Given the description of an element on the screen output the (x, y) to click on. 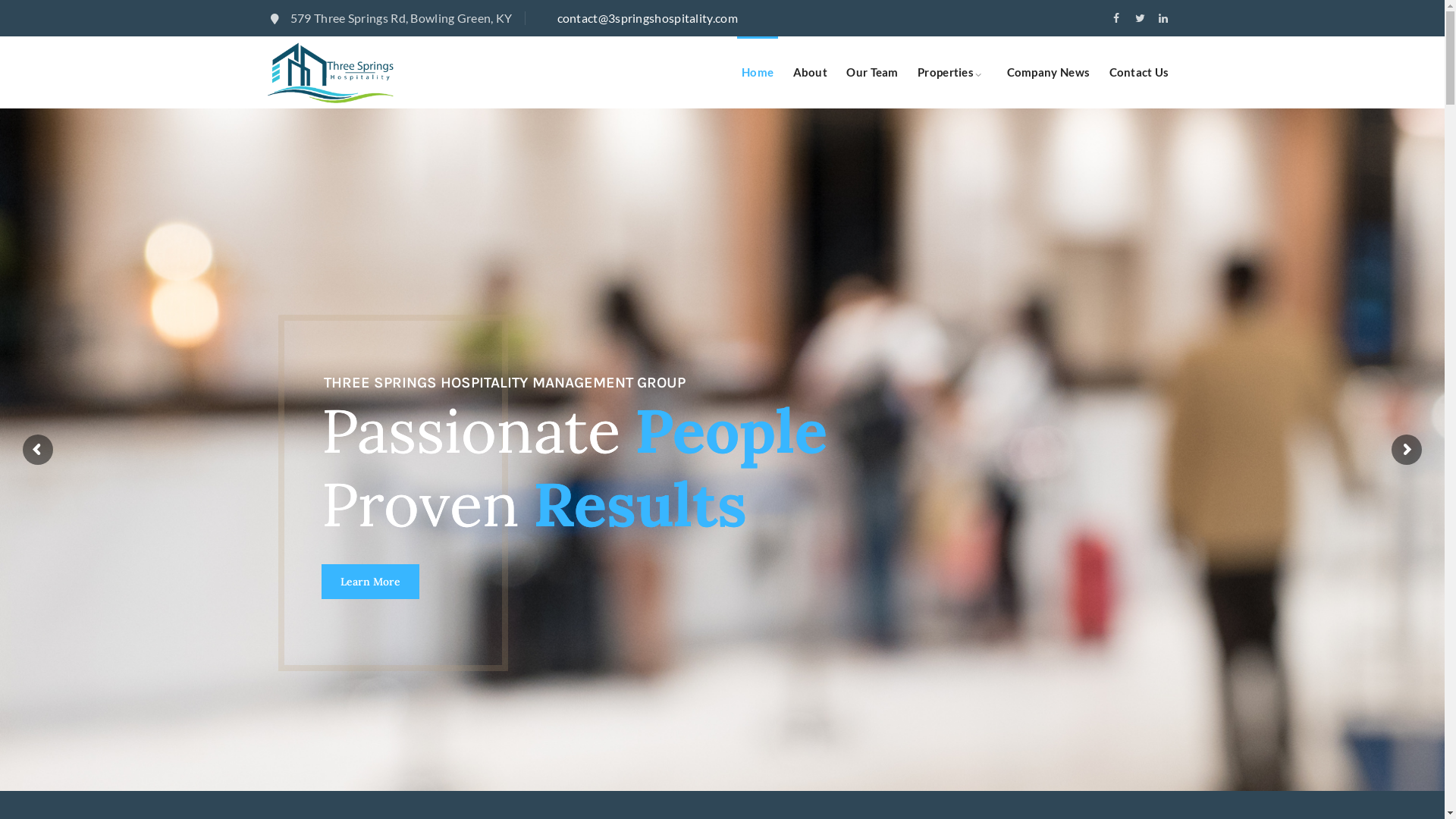
About Element type: text (810, 72)
Company News Element type: text (1048, 72)
Home Element type: text (757, 72)
Contact Us Element type: text (1139, 72)
contact@3springshospitality.com Element type: text (646, 17)
Our Team Element type: text (871, 72)
Learn More Element type: text (370, 581)
Properties Element type: text (945, 72)
Three Springs Hospitality Element type: hover (329, 72)
